Given the description of an element on the screen output the (x, y) to click on. 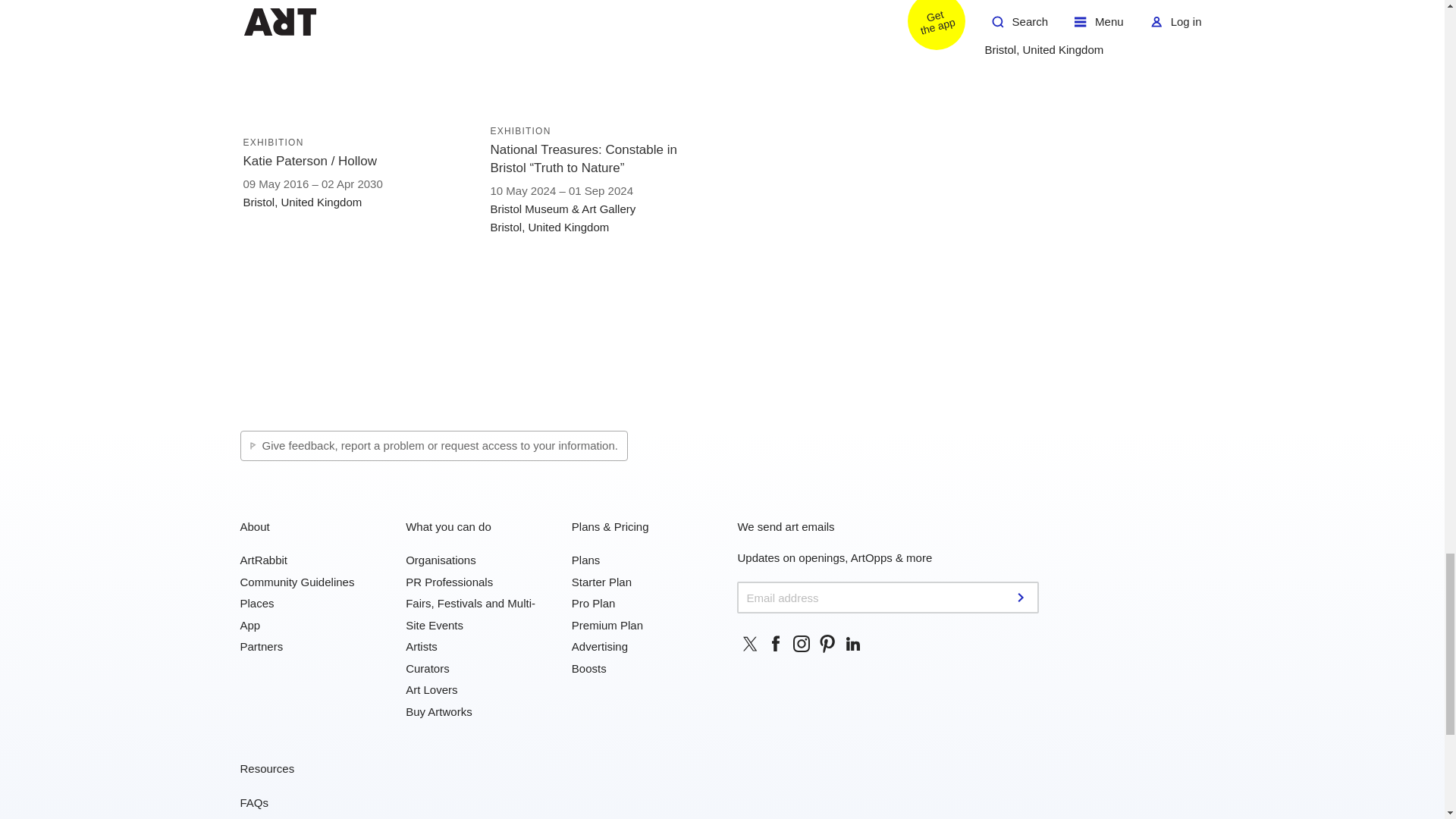
submit (1021, 597)
